Given the description of an element on the screen output the (x, y) to click on. 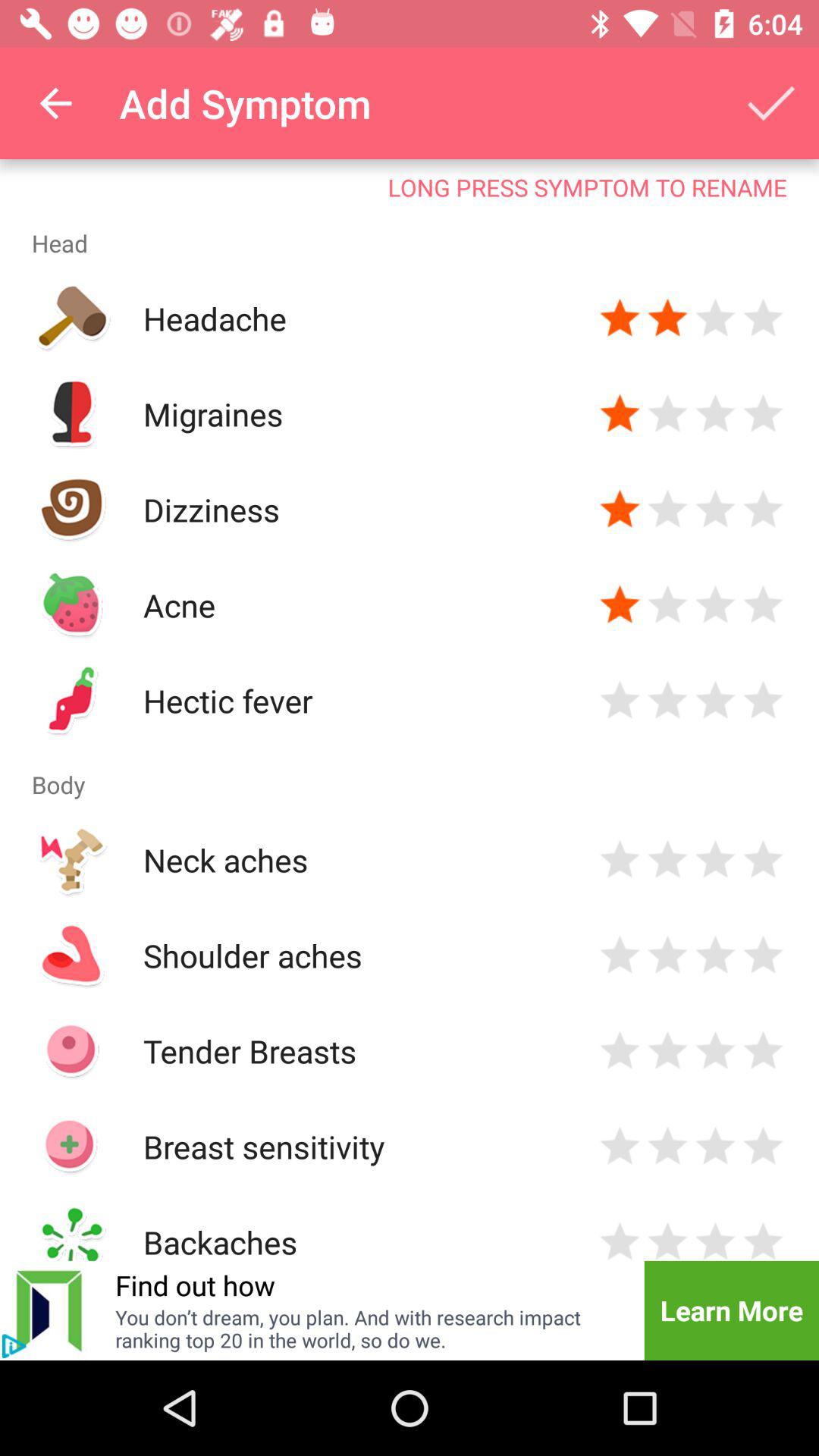
rate the severity of the symptom (763, 700)
